Given the description of an element on the screen output the (x, y) to click on. 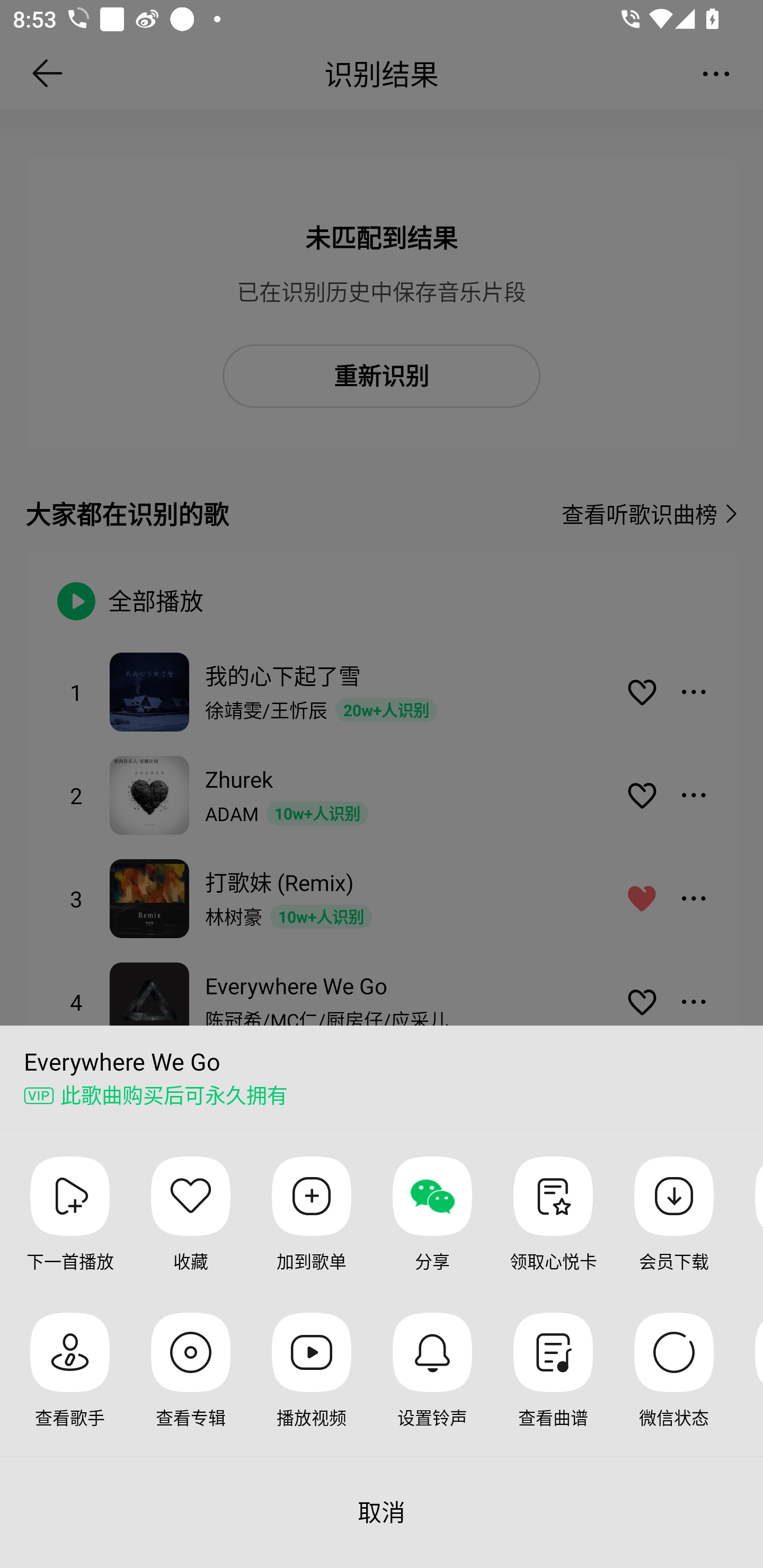
下一首播放 (69, 1228)
收藏 (190, 1228)
加到歌单 (311, 1228)
分享 (432, 1228)
领取心悦卡 (552, 1228)
会员下载 (673, 1228)
查看歌手 (69, 1383)
查看专辑 (190, 1383)
播放视频 (311, 1383)
设置铃声 (432, 1383)
查看曲谱 (552, 1383)
微信状态 (673, 1383)
取消 (381, 1512)
